Given the description of an element on the screen output the (x, y) to click on. 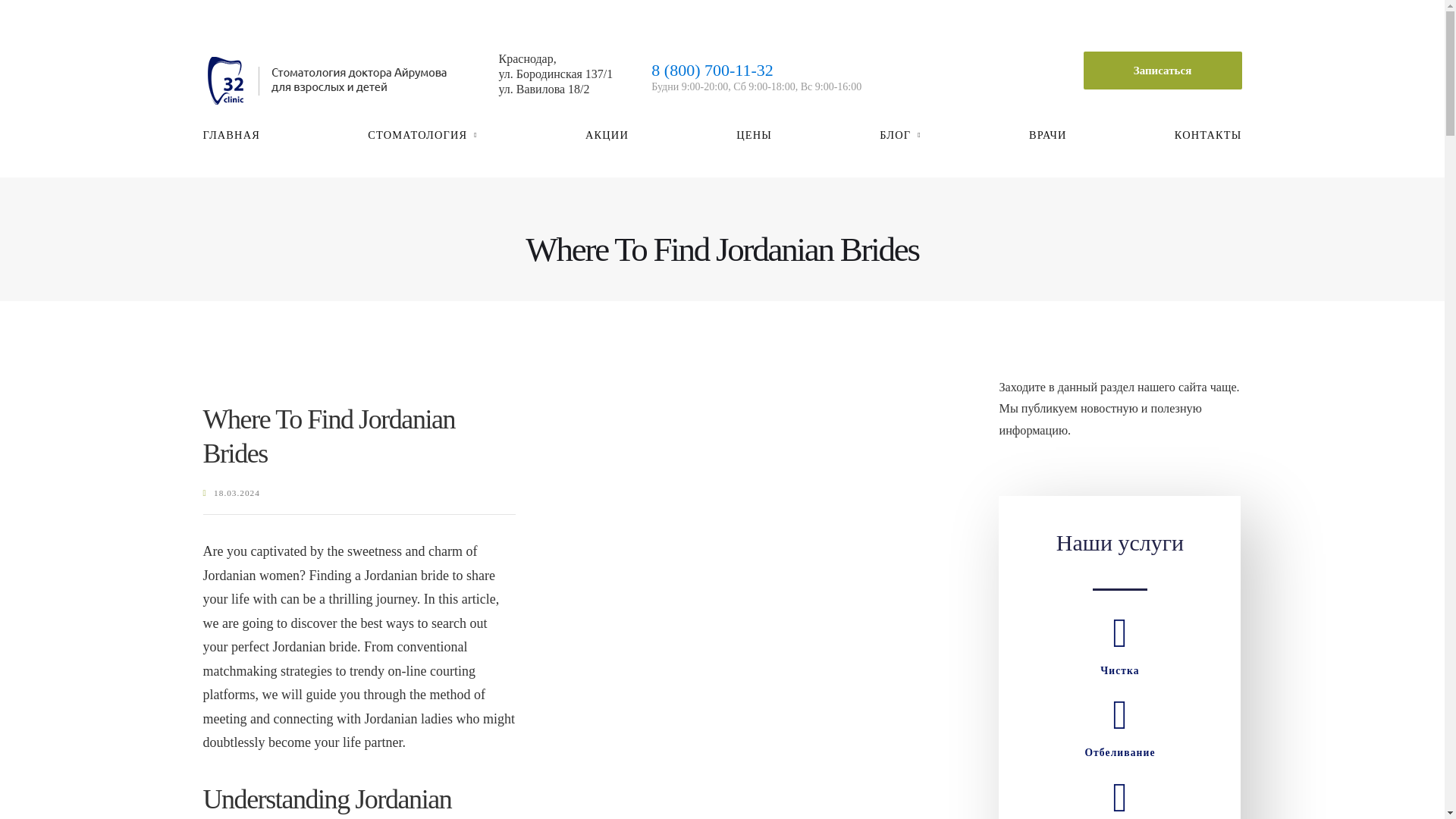
Where To Find Jordanian Brides (329, 436)
